Given the description of an element on the screen output the (x, y) to click on. 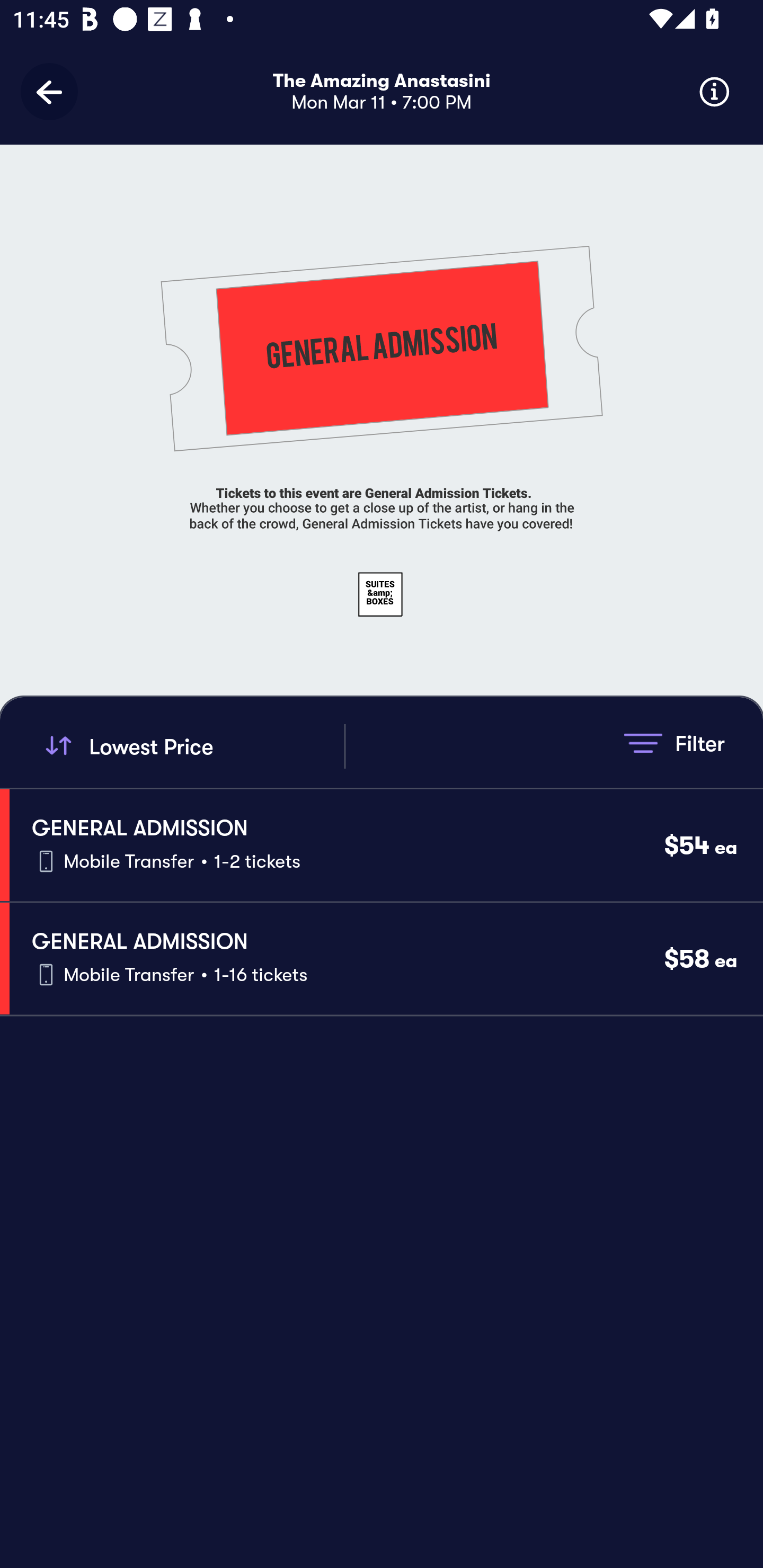
Lowest Price (191, 746)
Filter (674, 743)
